Given the description of an element on the screen output the (x, y) to click on. 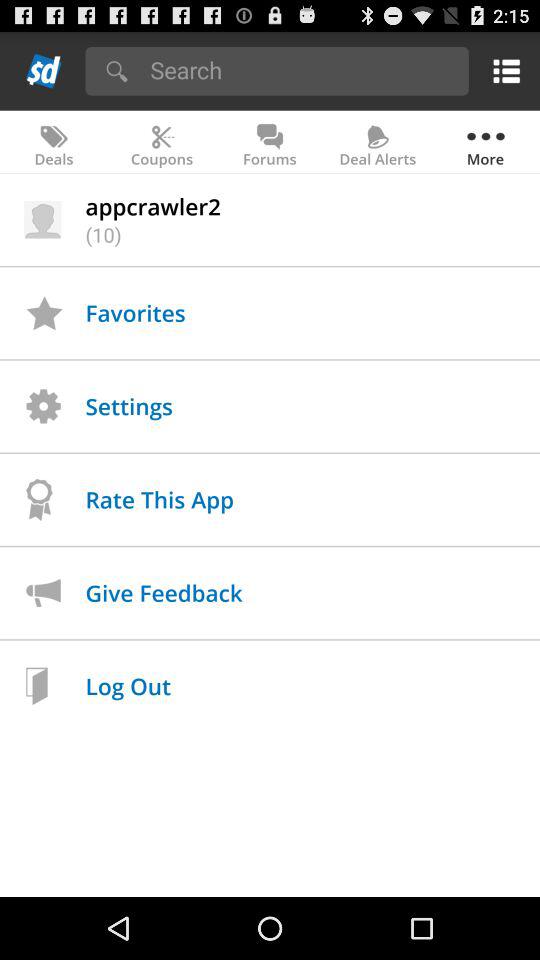
look up content (302, 69)
